Given the description of an element on the screen output the (x, y) to click on. 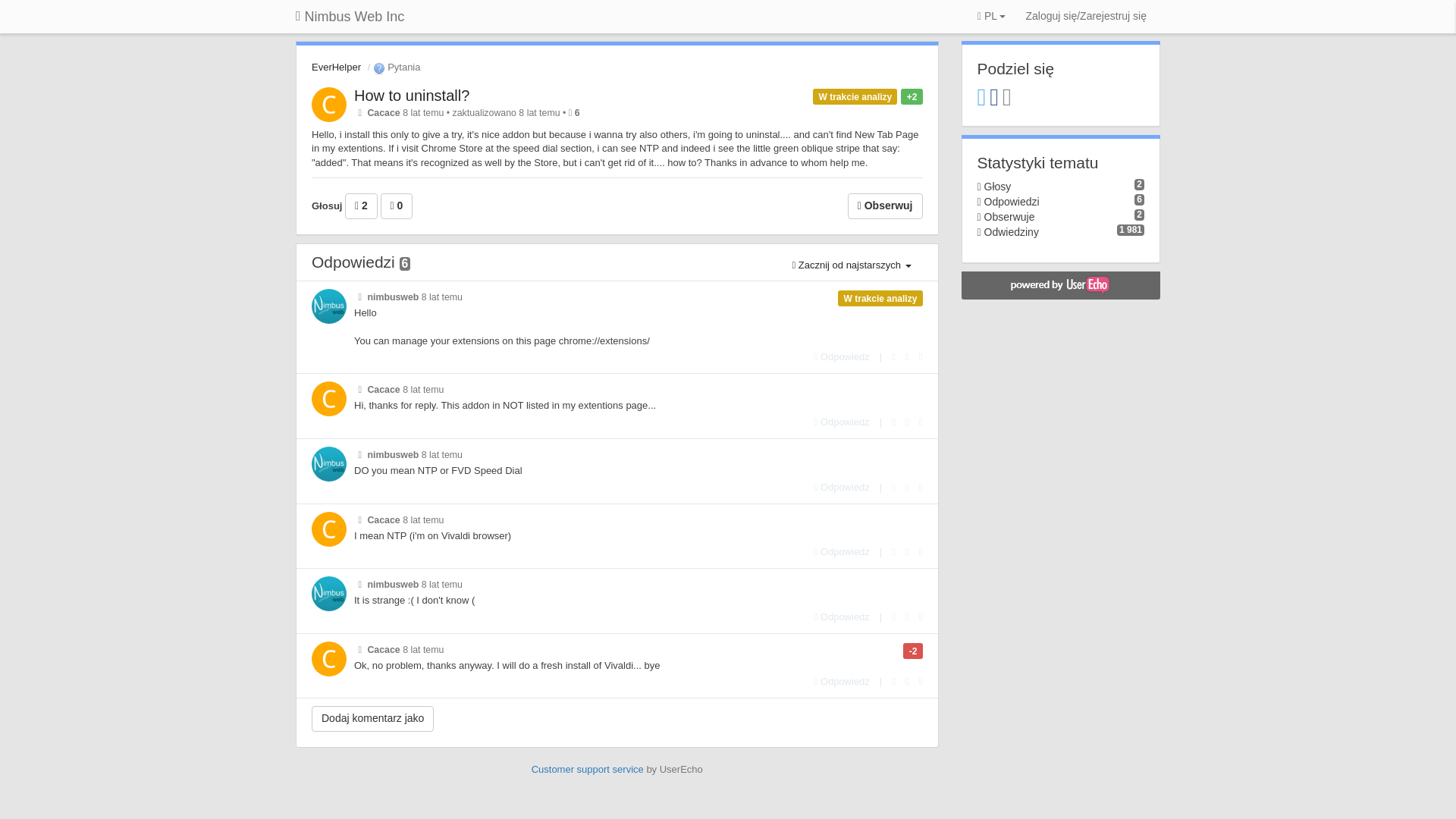
Dodaj komentarz jako (372, 718)
2 (361, 206)
Cacace (382, 112)
Zacznij od najstarszych (850, 265)
Obserwuj (885, 206)
How to uninstall? (410, 95)
EverHelper (336, 66)
0 (396, 206)
Pytania (394, 66)
PL (991, 16)
